Given the description of an element on the screen output the (x, y) to click on. 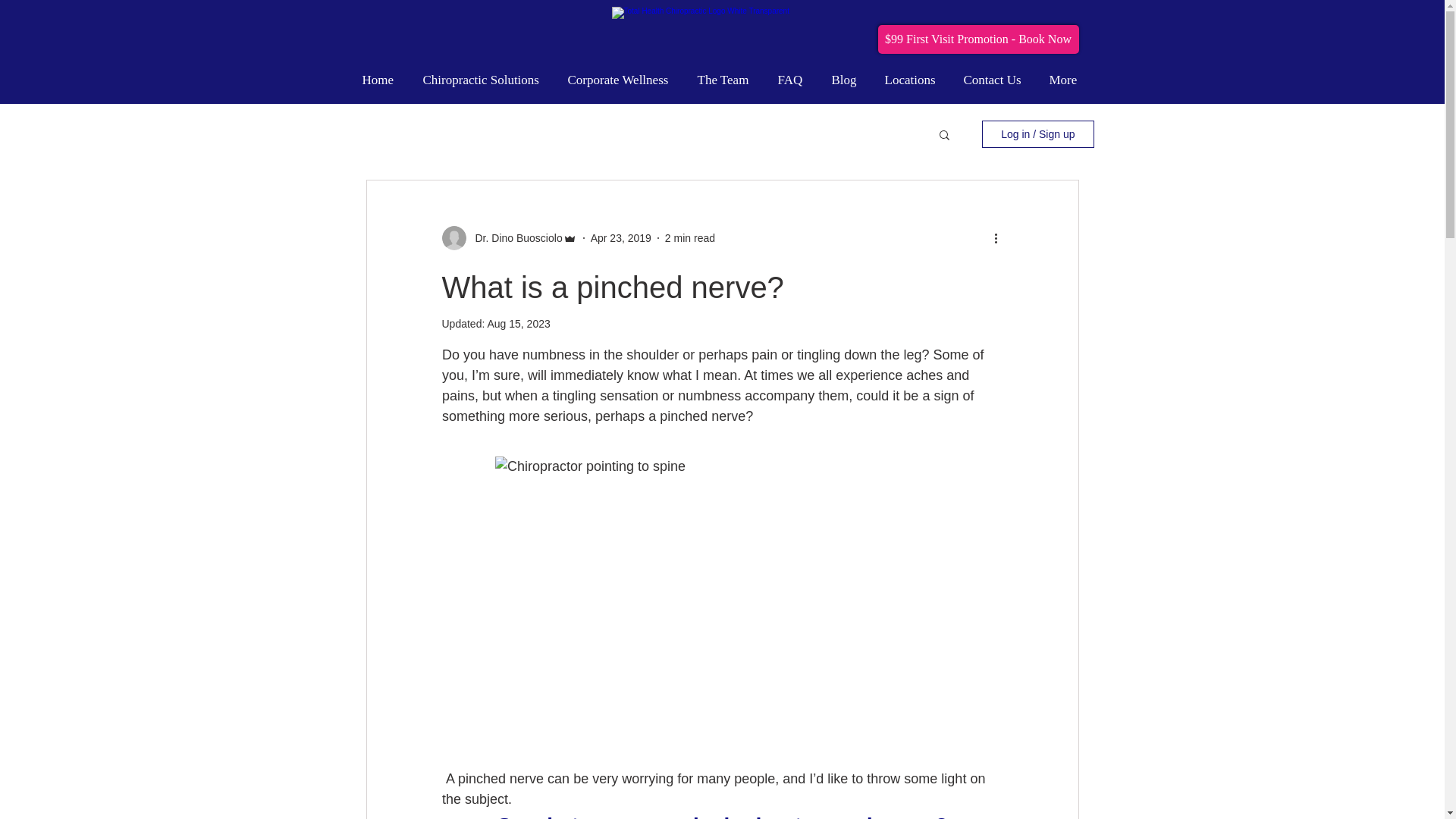
FAQ (792, 80)
Dr. Dino Buosciolo (513, 238)
Aug 15, 2023 (518, 323)
The Team (725, 80)
Apr 23, 2019 (620, 237)
Contact Us (995, 80)
2 min read (689, 237)
Corporate Wellness (620, 80)
Home (380, 80)
